Given the description of an element on the screen output the (x, y) to click on. 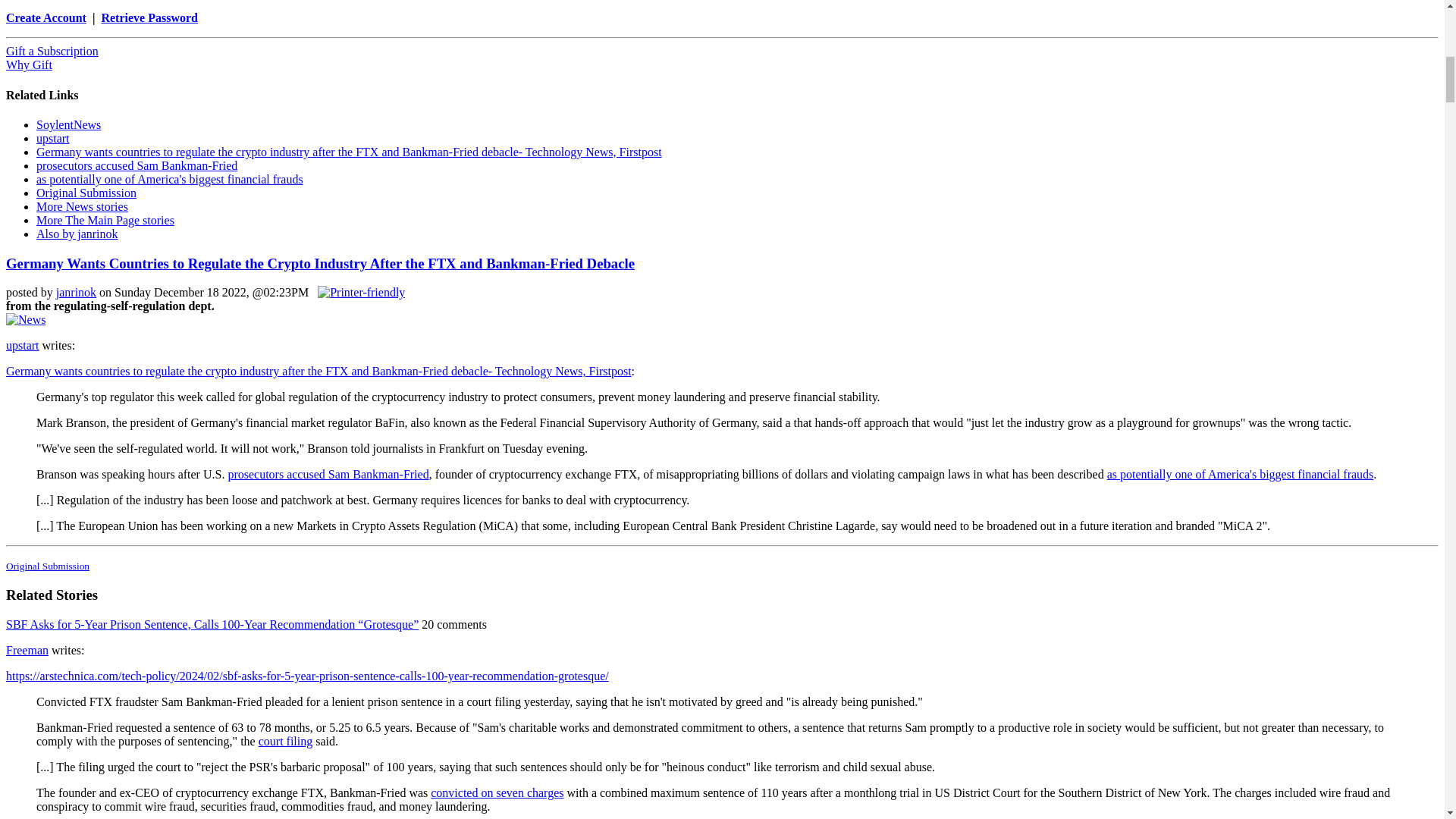
Why Gift (28, 64)
News (25, 319)
Retrieve Password (149, 17)
Gift a Subscription (52, 51)
Create Account (45, 17)
